Given the description of an element on the screen output the (x, y) to click on. 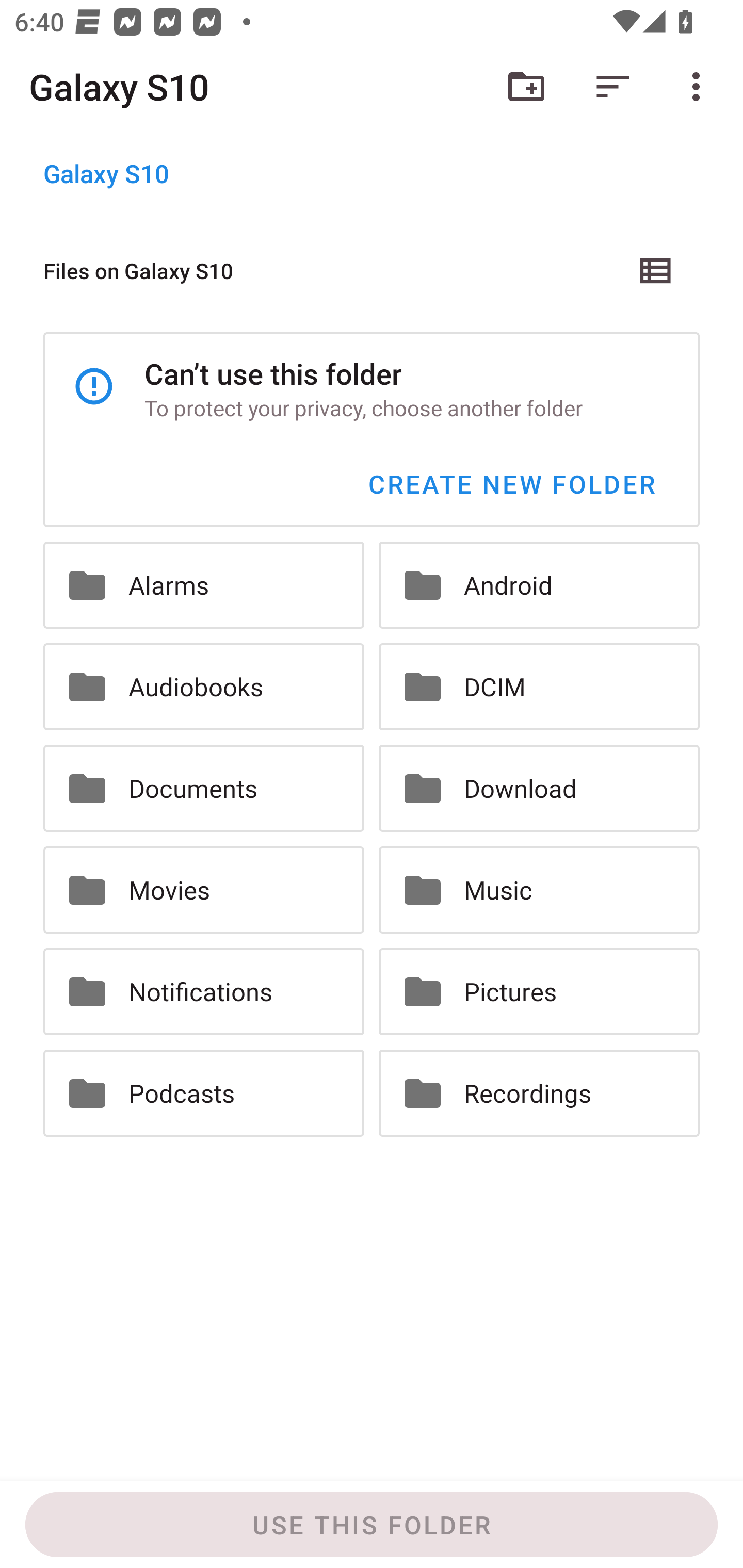
New folder (525, 86)
Sort by... (612, 86)
More options (699, 86)
List view (655, 270)
CREATE NEW FOLDER (511, 483)
Alarms (203, 584)
Android (538, 584)
Audiobooks (203, 686)
DCIM (538, 686)
Documents (203, 788)
Download (538, 788)
Movies (203, 889)
Music (538, 889)
Notifications (203, 991)
Pictures (538, 991)
Podcasts (203, 1092)
Recordings (538, 1092)
USE THIS FOLDER (371, 1524)
